Given the description of an element on the screen output the (x, y) to click on. 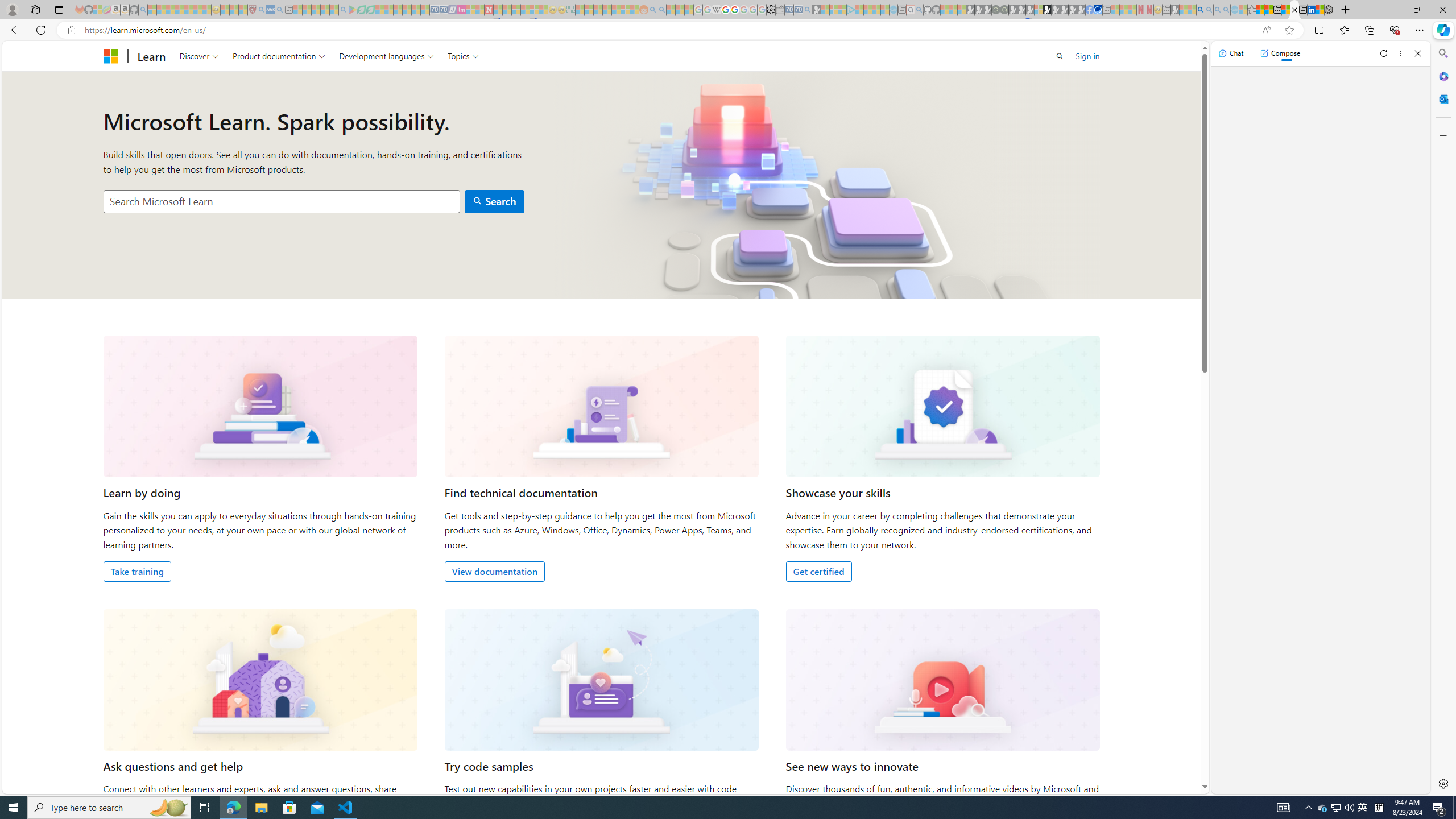
Target page - Wikipedia - Sleeping (716, 9)
